Given the description of an element on the screen output the (x, y) to click on. 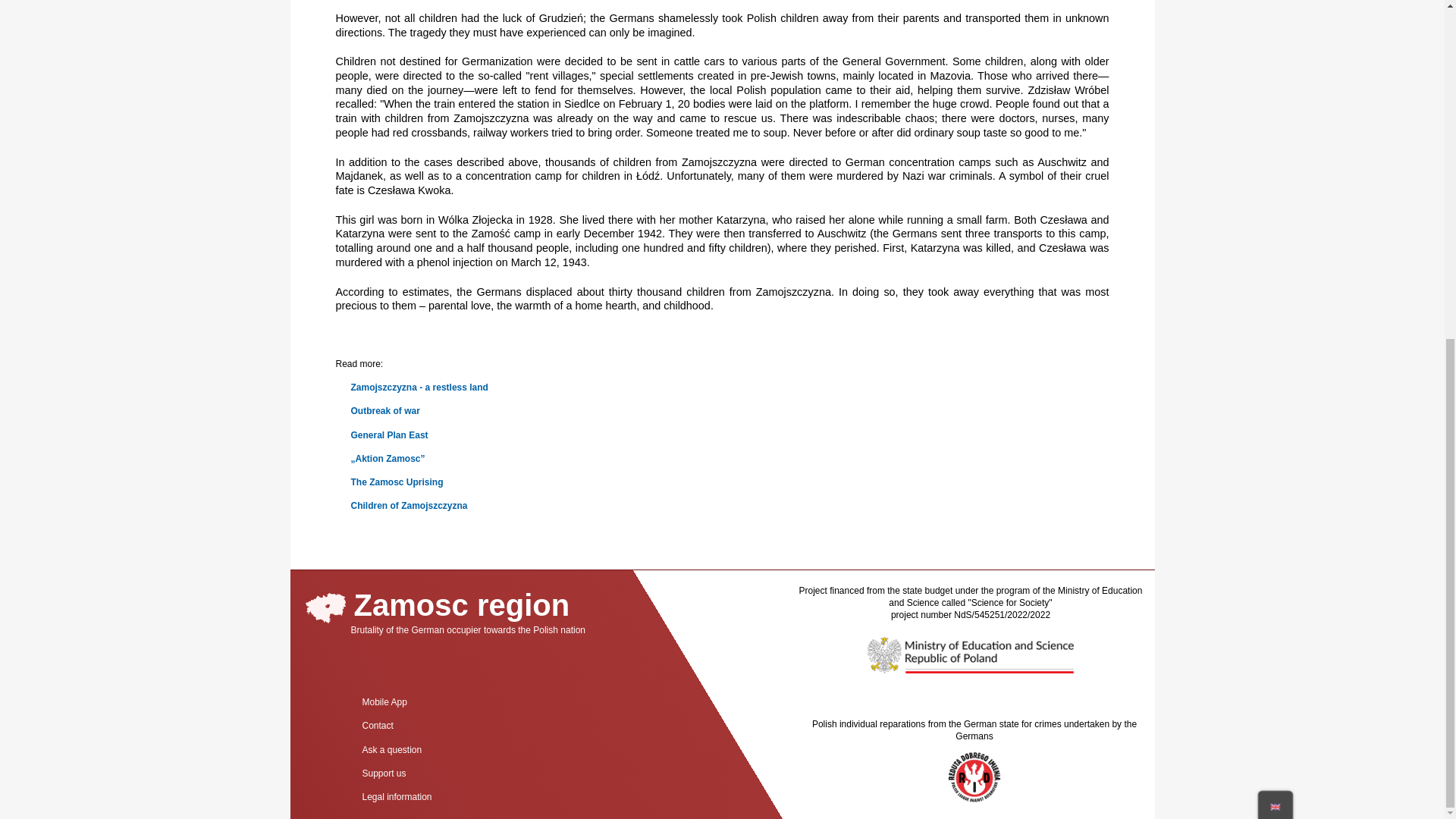
Outbreak of war (384, 410)
Zamojszczyzna - a restless land (418, 387)
 Zamosc region (436, 604)
English (1276, 234)
Legal information (395, 796)
Ask a question (391, 749)
REDUTAlogo tradycyjneSmall (974, 777)
Contact (377, 725)
Children of Zamojszczyzna (408, 505)
ministerstwo-edukacji (970, 654)
The Zamosc Uprising (396, 481)
General Plan East (389, 434)
Mobile App (383, 701)
Support us (383, 773)
